Given the description of an element on the screen output the (x, y) to click on. 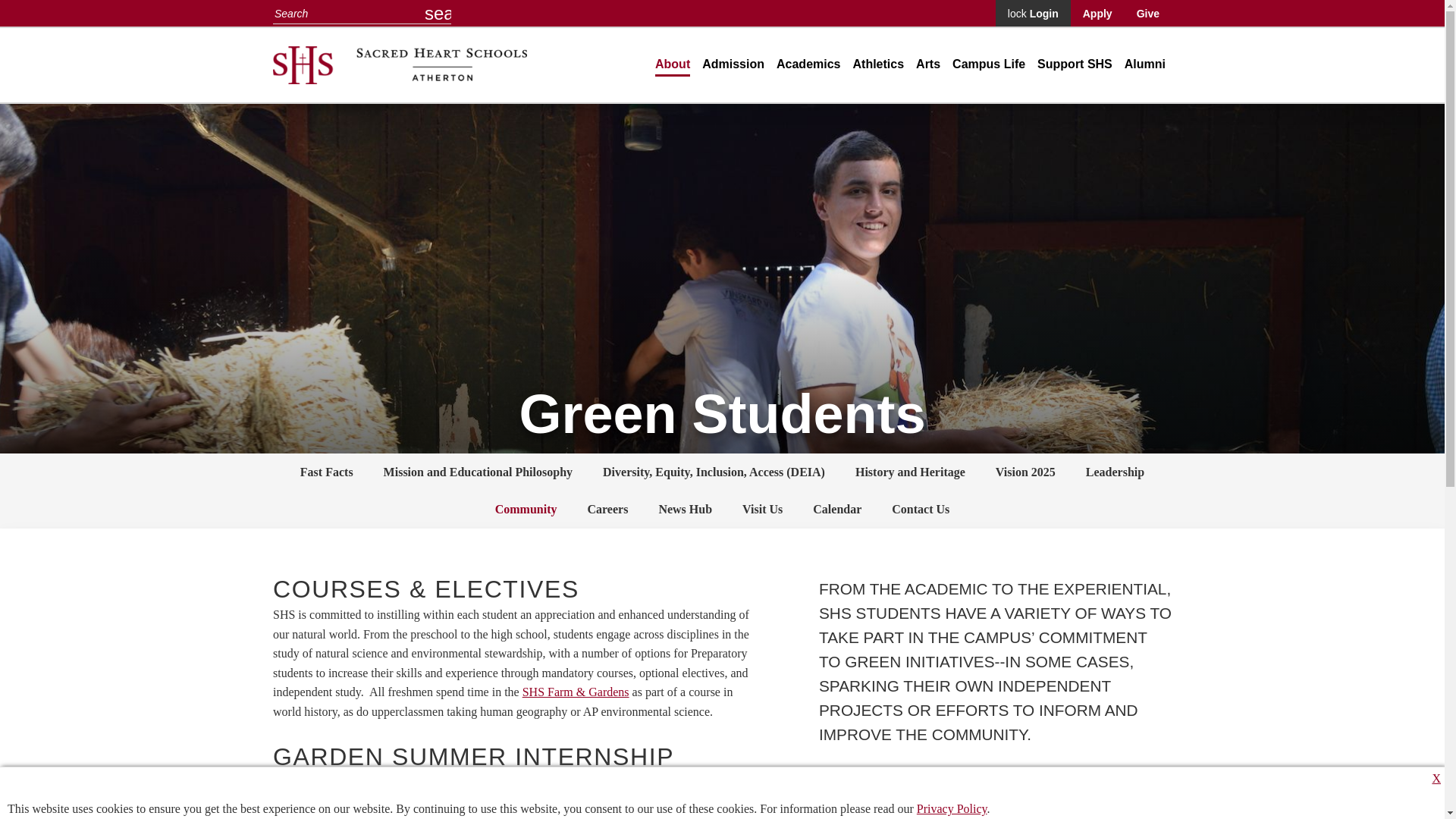
Sacred Heart Schools Atherton Privacy Policy (952, 808)
search (438, 13)
